Given the description of an element on the screen output the (x, y) to click on. 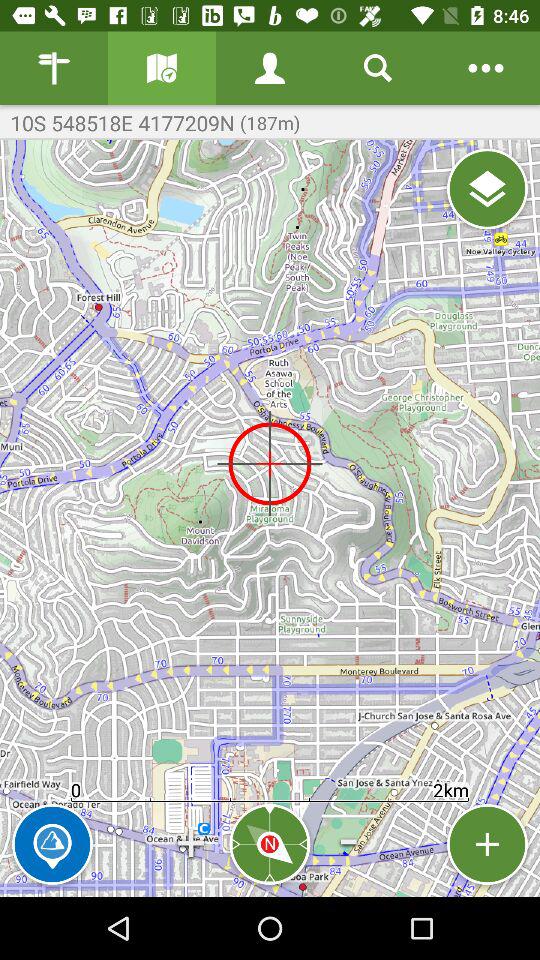
open the map (162, 68)
